Given the description of an element on the screen output the (x, y) to click on. 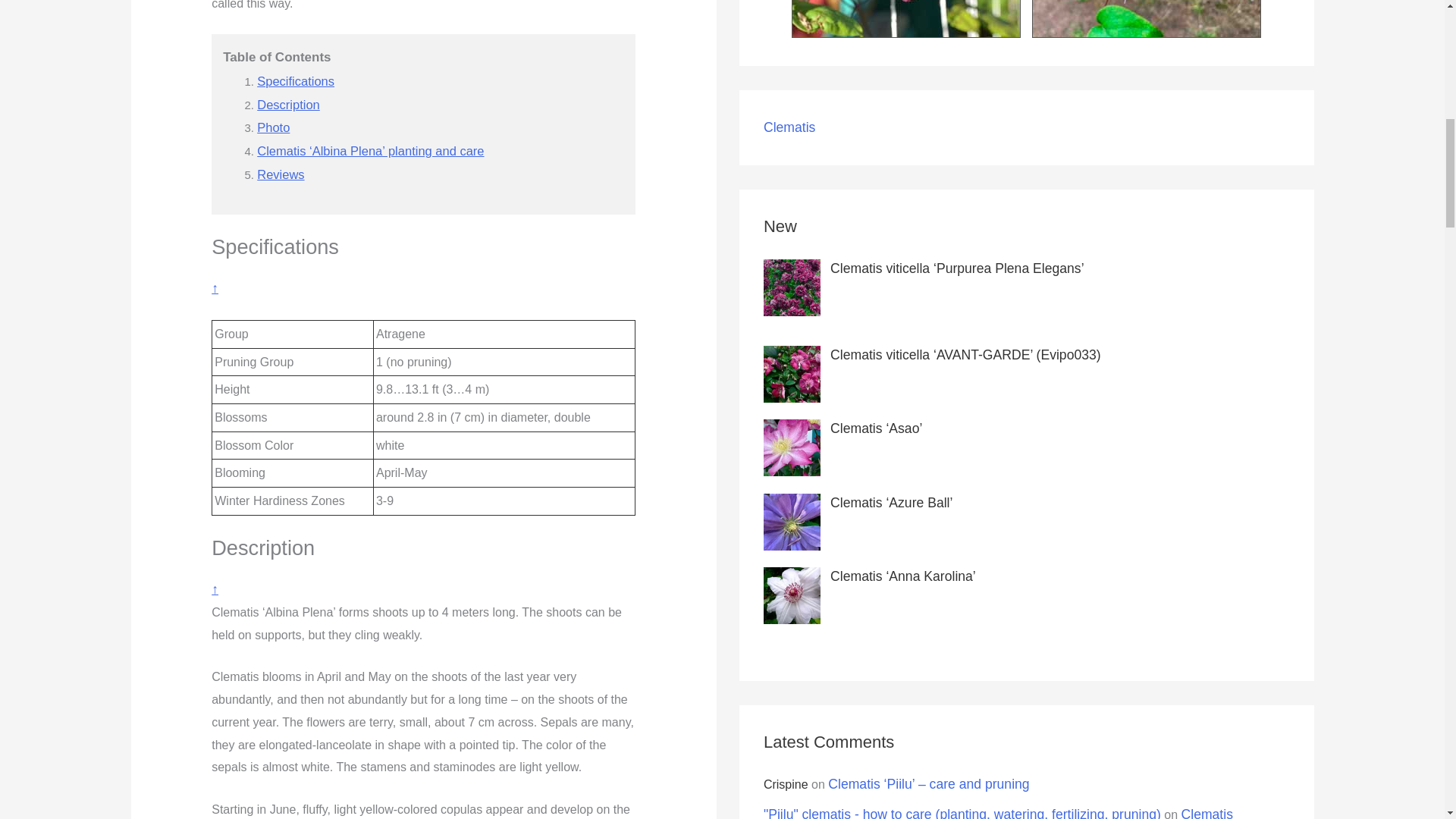
Reviews (280, 173)
Specifications (295, 80)
Photo (273, 127)
Description (288, 104)
